Given the description of an element on the screen output the (x, y) to click on. 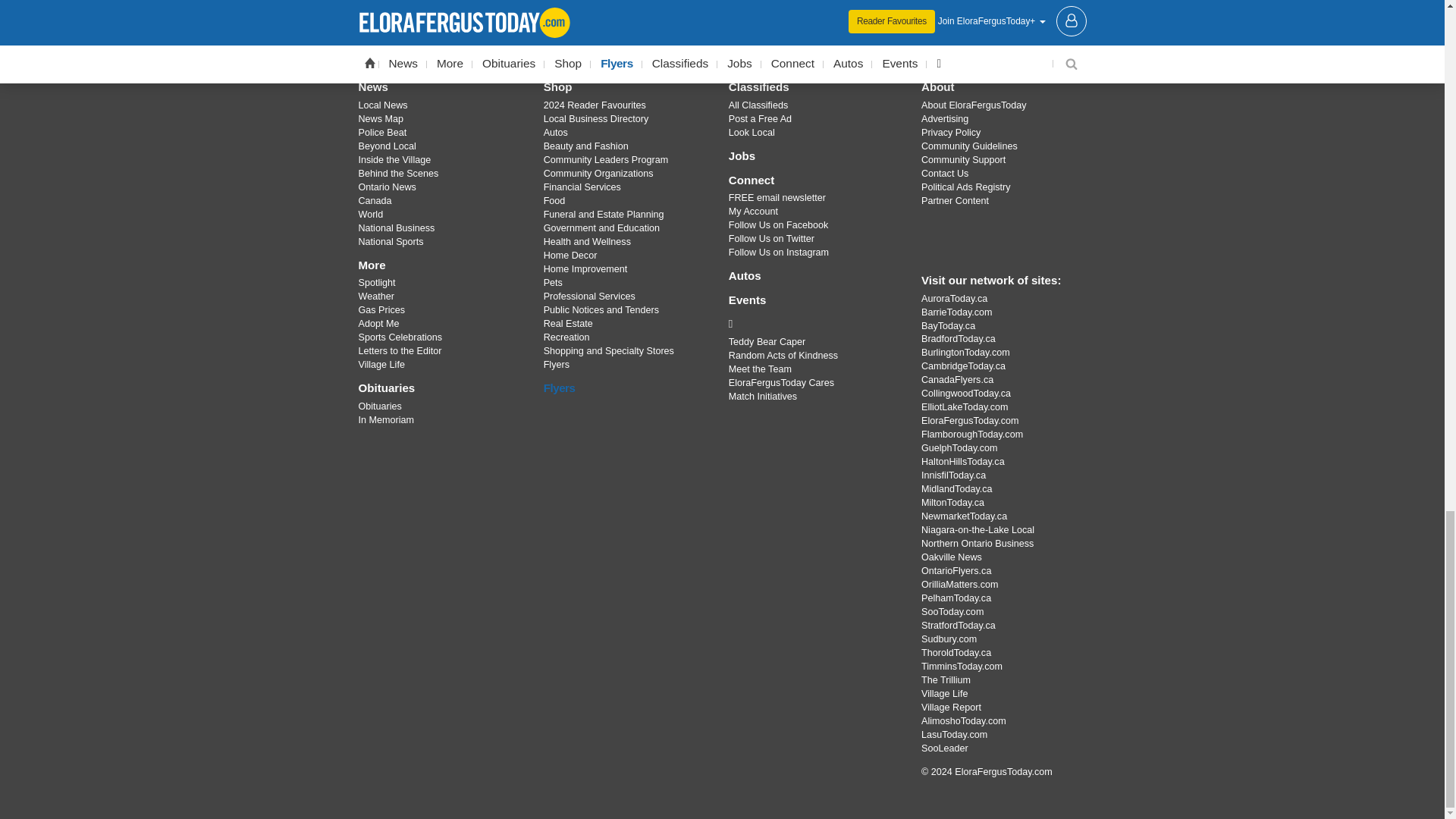
EloraFergusToday Cares (813, 323)
X (721, 33)
Instagram (760, 33)
Facebook (683, 33)
